Given the description of an element on the screen output the (x, y) to click on. 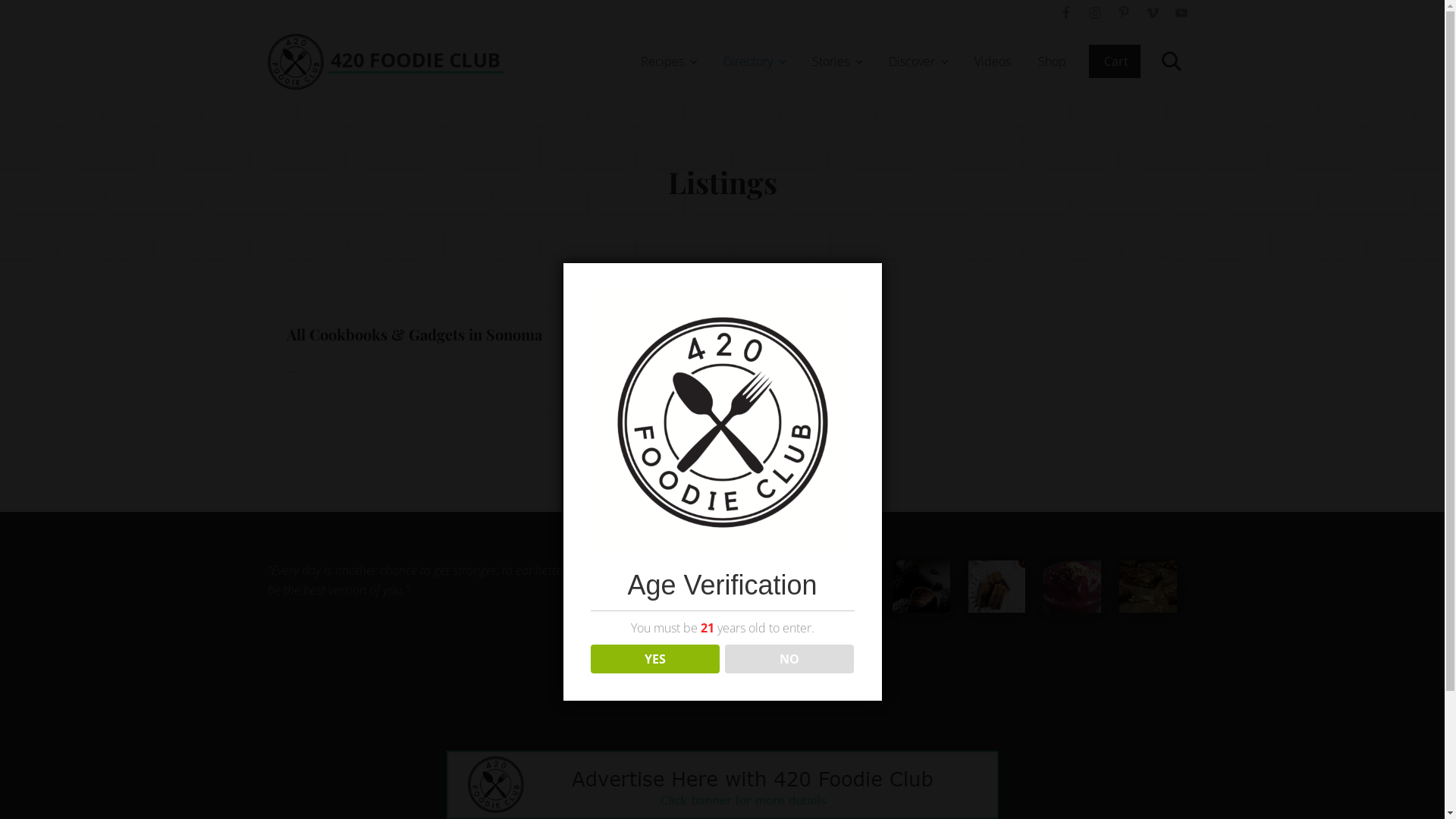
Shop Element type: text (1051, 61)
All Cookbooks & Gadgets in Sonoma Element type: text (414, 333)
YouTube Element type: text (1180, 12)
Videos Element type: text (991, 61)
Blue Dream Smoothie Element type: text (769, 586)
Vimeo Element type: text (1151, 12)
Facebook Element type: text (1065, 12)
Discover Element type: text (917, 61)
Mighty Fast Infused Berrilicious Smoothie Element type: text (1072, 586)
CBD Brownies Element type: text (1147, 586)
Avocado Truffle Balls Element type: text (921, 586)
Recipes Element type: text (667, 61)
 Cart Element type: text (1114, 61)
Search Element type: text (1169, 61)
NO Element type: text (789, 658)
Stories Element type: text (835, 61)
Hawaiian Macadamia Nut Bread Element type: text (845, 586)
Pinterest Element type: text (1122, 12)
Directory Element type: text (754, 61)
Instagram Element type: text (1093, 12)
Skip to right header navigation Element type: text (0, 0)
Vegan Mochasicles Element type: text (996, 586)
YES Element type: text (655, 658)
